Given the description of an element on the screen output the (x, y) to click on. 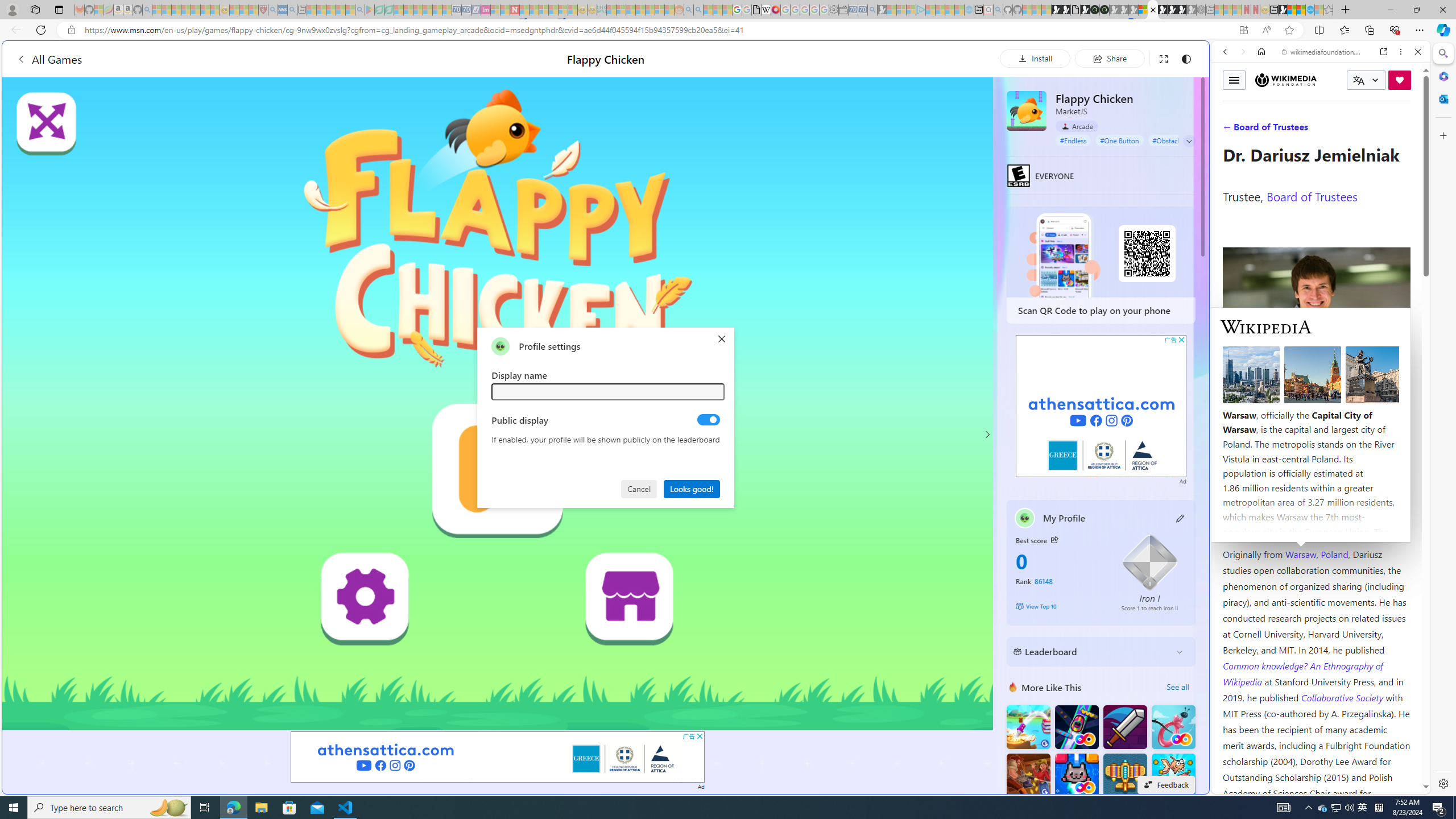
Play Cave FRVR in your browser | Games from Microsoft Start (922, 242)
utah sues federal government - Search (922, 389)
Dungeon Master Knight (1124, 726)
#Obstacle Course (1178, 140)
Class: button (1053, 539)
All Games (212, 58)
Favorites - Sleeping (1328, 9)
wikimediafoundation.org (1323, 51)
Arcade (1076, 125)
